Given the description of an element on the screen output the (x, y) to click on. 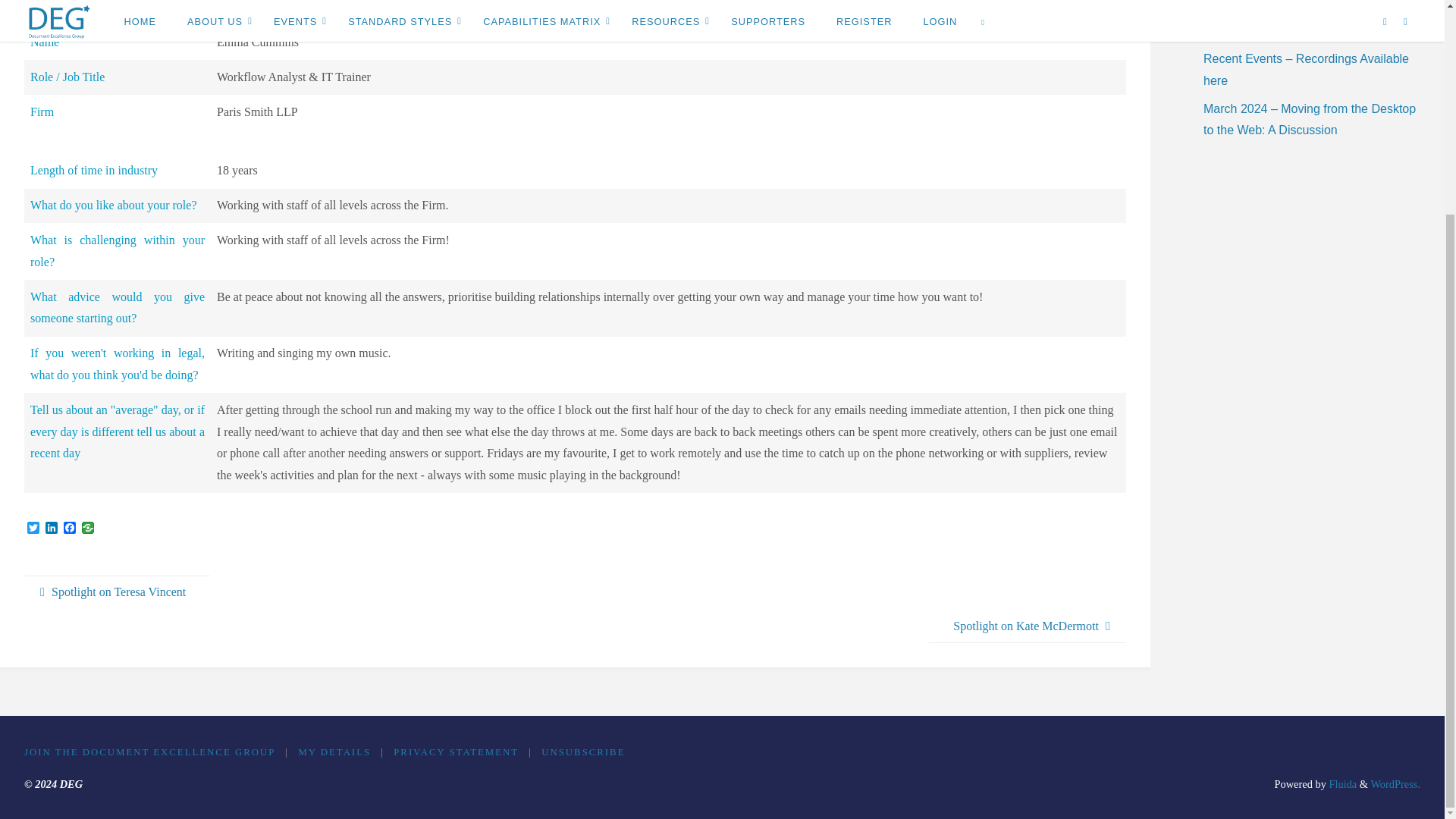
Facebook (69, 528)
LinkedIn (51, 528)
Fluida WordPress Theme by Cryout Creations (1341, 784)
Twitter (33, 528)
